Given the description of an element on the screen output the (x, y) to click on. 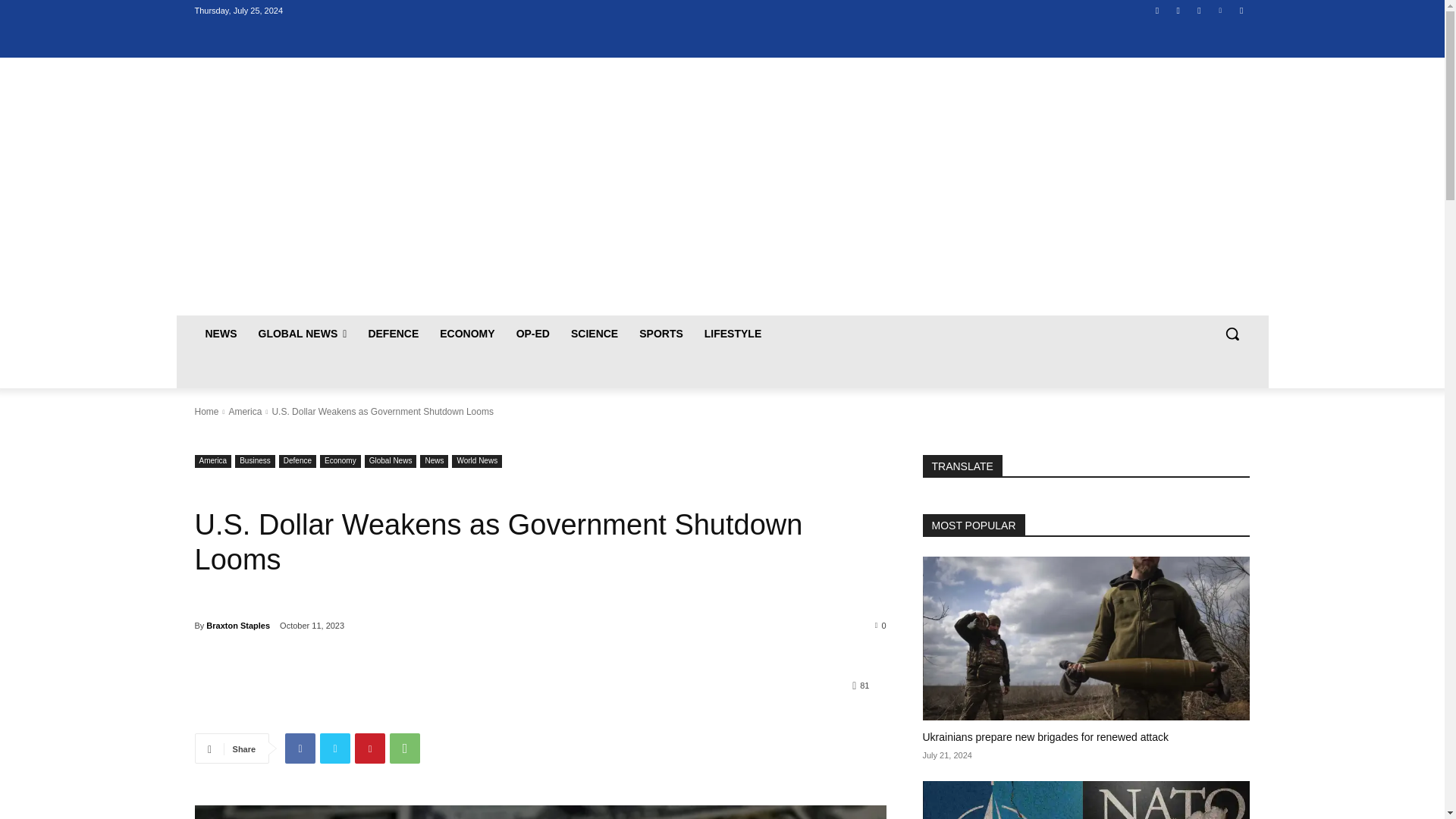
Twitter (1199, 9)
Pinterest (370, 748)
Twitter (335, 748)
GLOBAL NEWS (301, 333)
WhatsApp (405, 748)
View all posts in America (245, 411)
Facebook (300, 748)
Instagram (1177, 9)
NEWS (220, 333)
Vimeo (1219, 9)
Facebook (1157, 9)
Youtube (1241, 9)
Illustration shows U.S. dollar banknotes (539, 812)
